Given the description of an element on the screen output the (x, y) to click on. 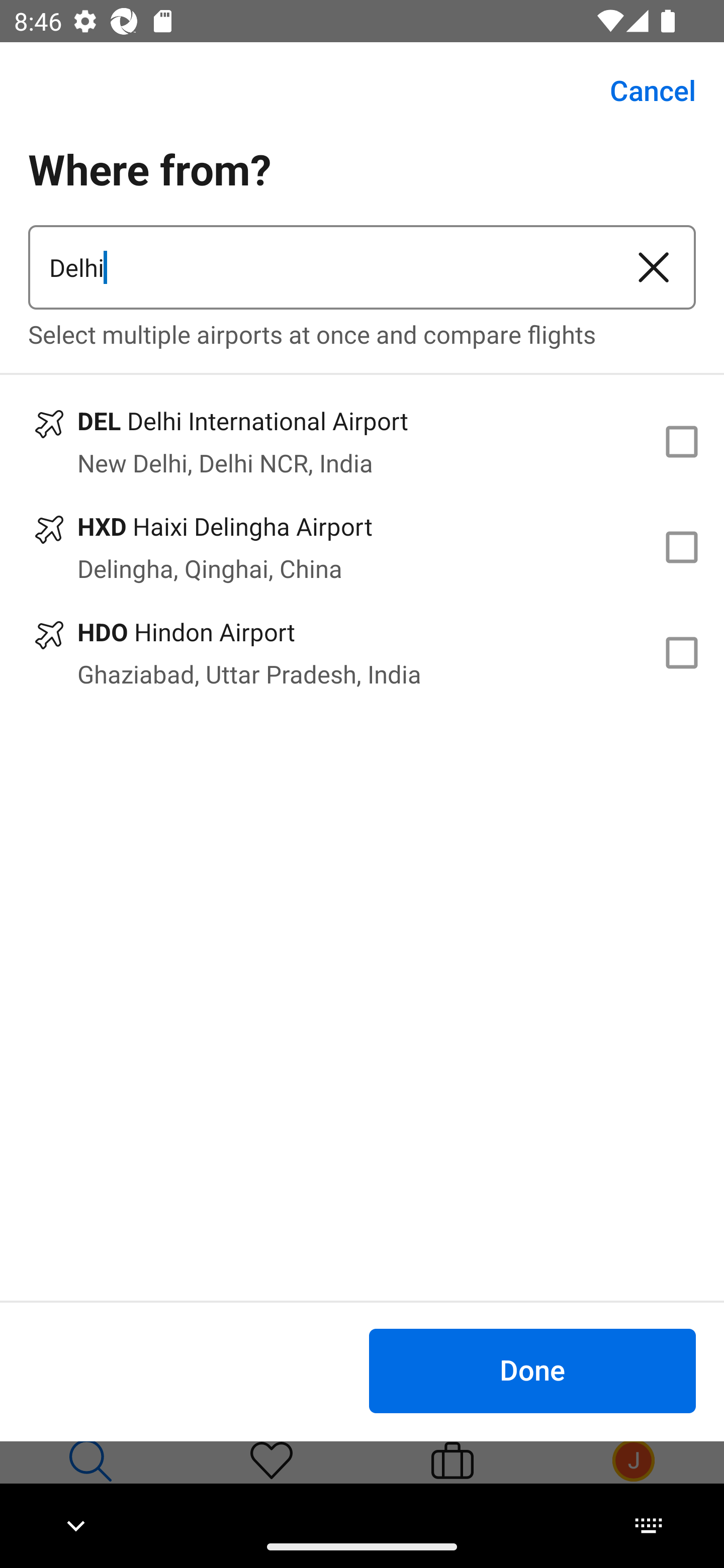
Cancel (641, 90)
Delhi (319, 266)
Clear airport or city (653, 266)
HDO Hindon Airport Ghaziabad, Uttar Pradesh, India (362, 652)
Done (532, 1370)
